Given the description of an element on the screen output the (x, y) to click on. 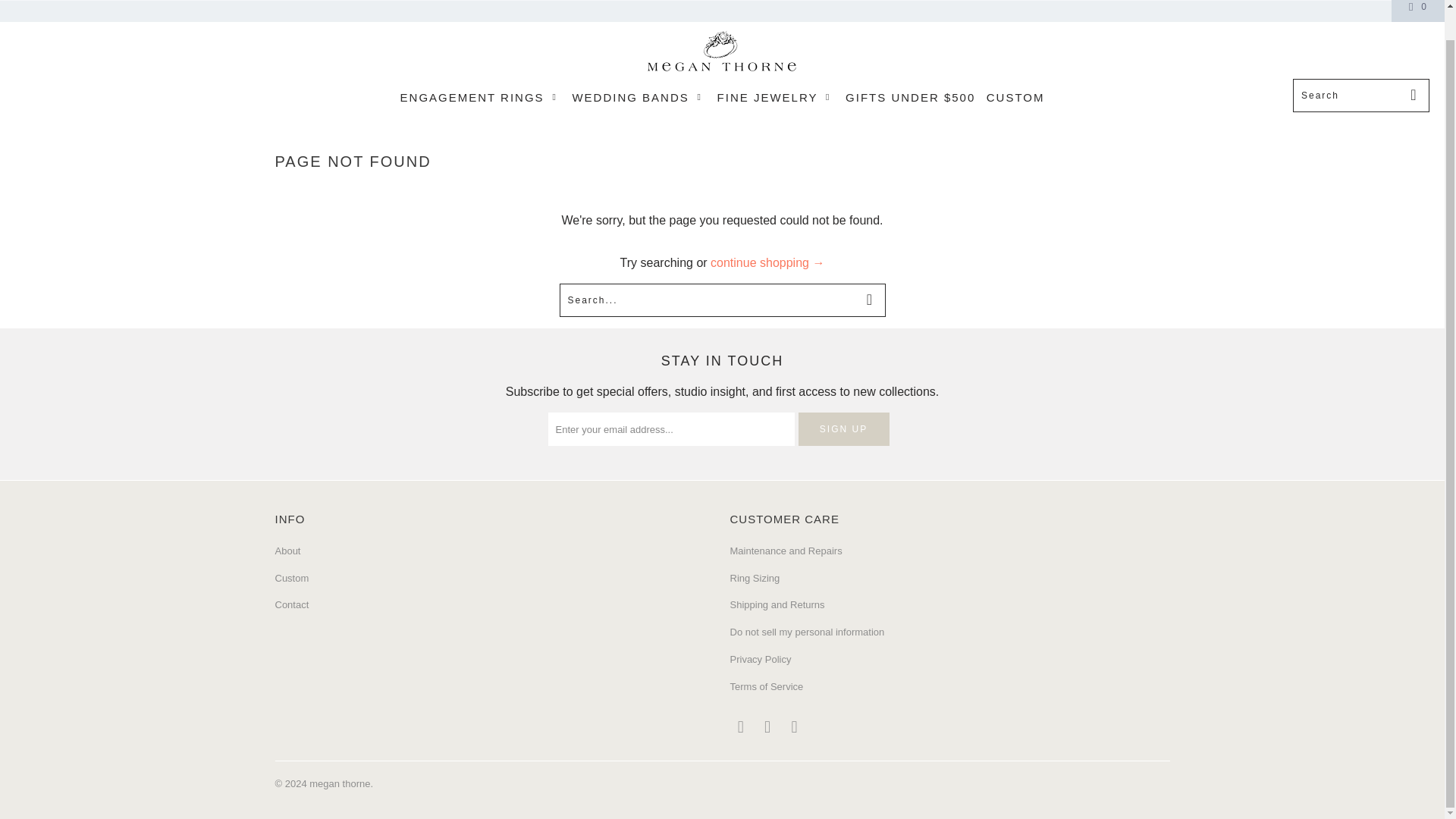
megan thorne (722, 53)
megan thorne on Instagram (794, 727)
megan thorne on Pinterest (767, 727)
Sign Up (842, 428)
megan thorne on Facebook (740, 727)
